Given the description of an element on the screen output the (x, y) to click on. 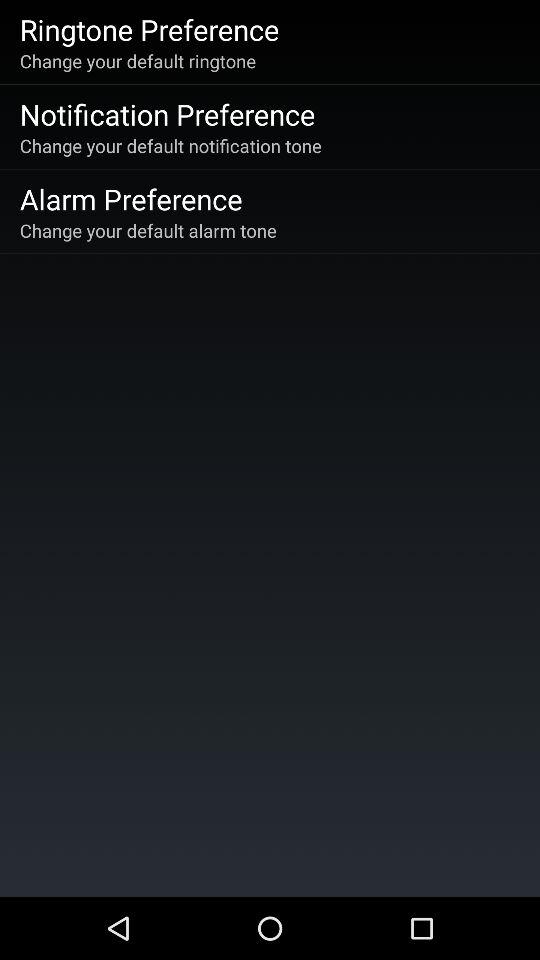
select icon above change your default icon (130, 198)
